Given the description of an element on the screen output the (x, y) to click on. 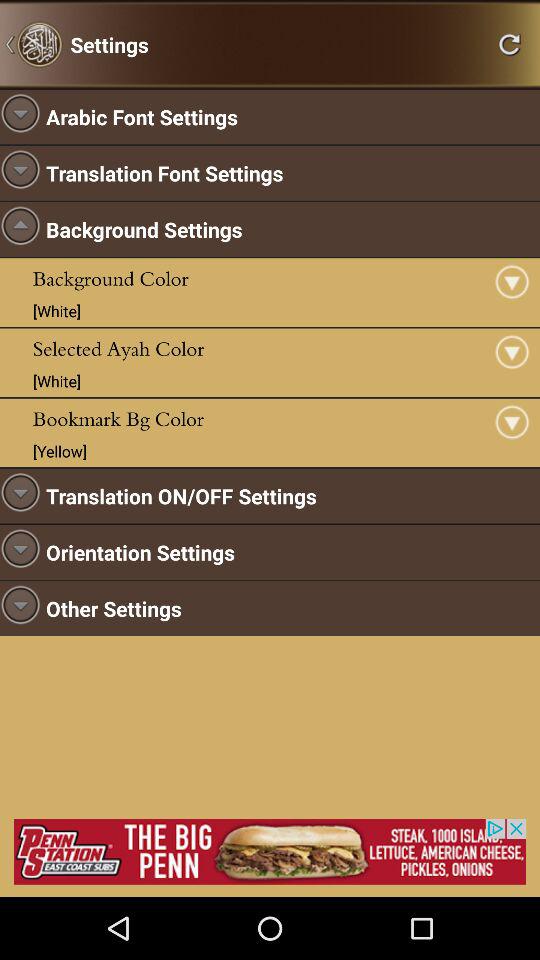
advertisement (270, 851)
